Given the description of an element on the screen output the (x, y) to click on. 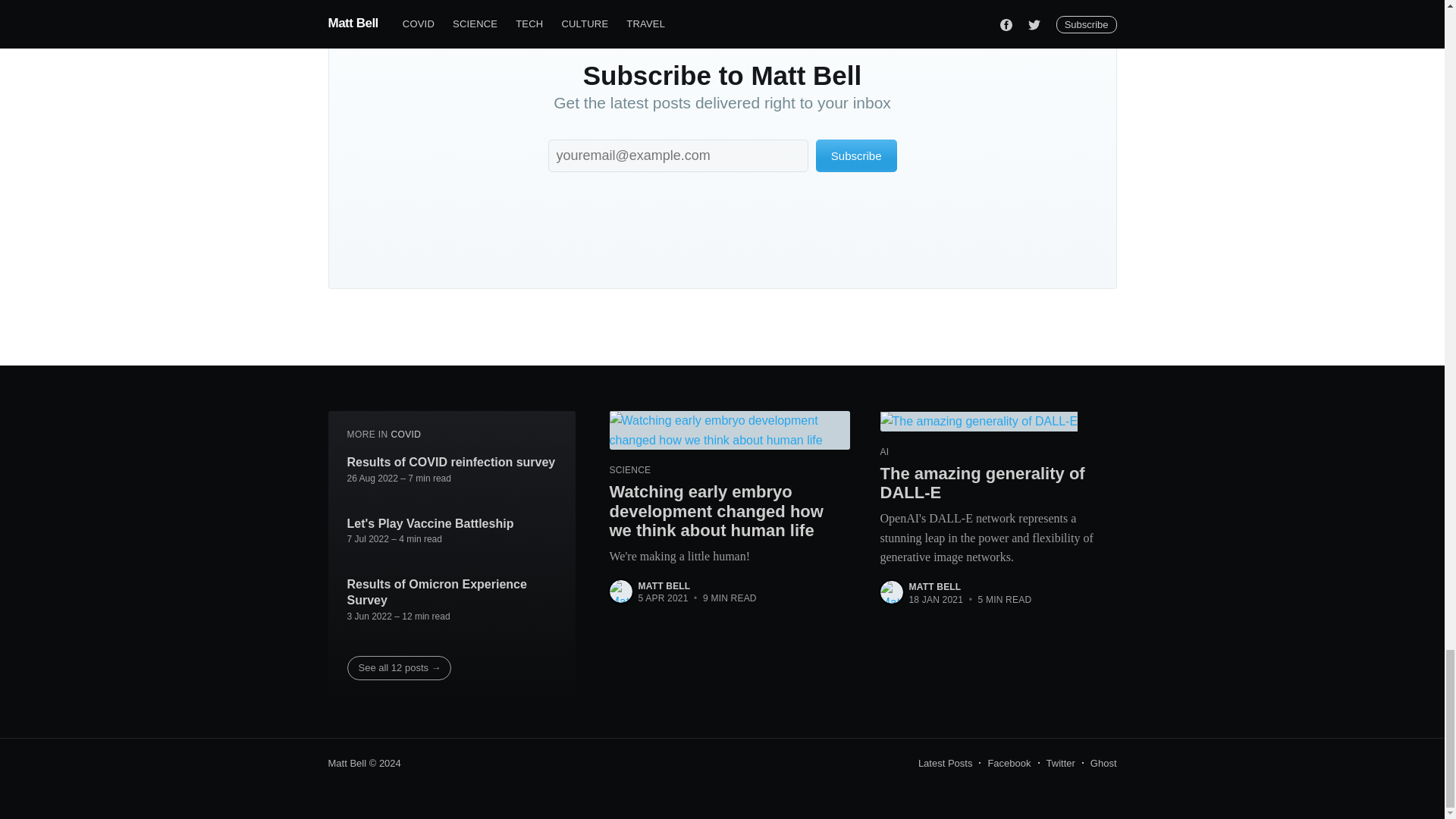
MATT BELL (664, 585)
Matt Bell (346, 763)
MATT BELL (934, 586)
Latest Posts (945, 763)
Ghost (1103, 763)
Facebook (1008, 763)
COVID (405, 434)
Subscribe (855, 155)
Let's Play Vaccine Battleship (430, 523)
